Given the description of an element on the screen output the (x, y) to click on. 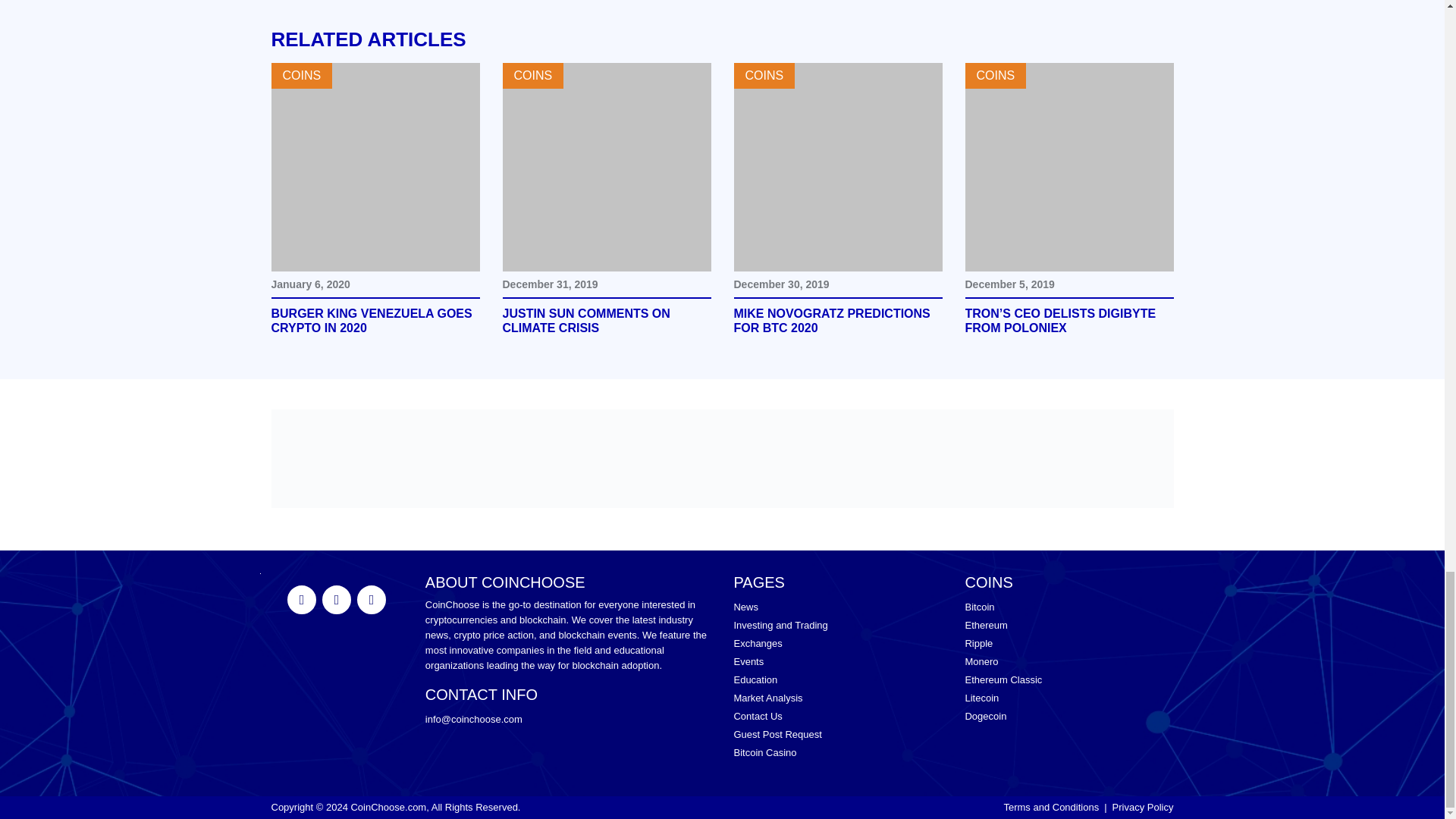
Burger King Venezuela Goes Crypto in 2020 (375, 167)
Mike Novogratz Predictions for BTC 2020 (837, 321)
Mike Novogratz Predictions for BTC 2020 (837, 167)
Burger King Venezuela Goes Crypto in 2020 (375, 321)
Justin Sun Comments on Climate Crisis (606, 321)
Justin Sun Comments on Climate Crisis (606, 167)
